Given the description of an element on the screen output the (x, y) to click on. 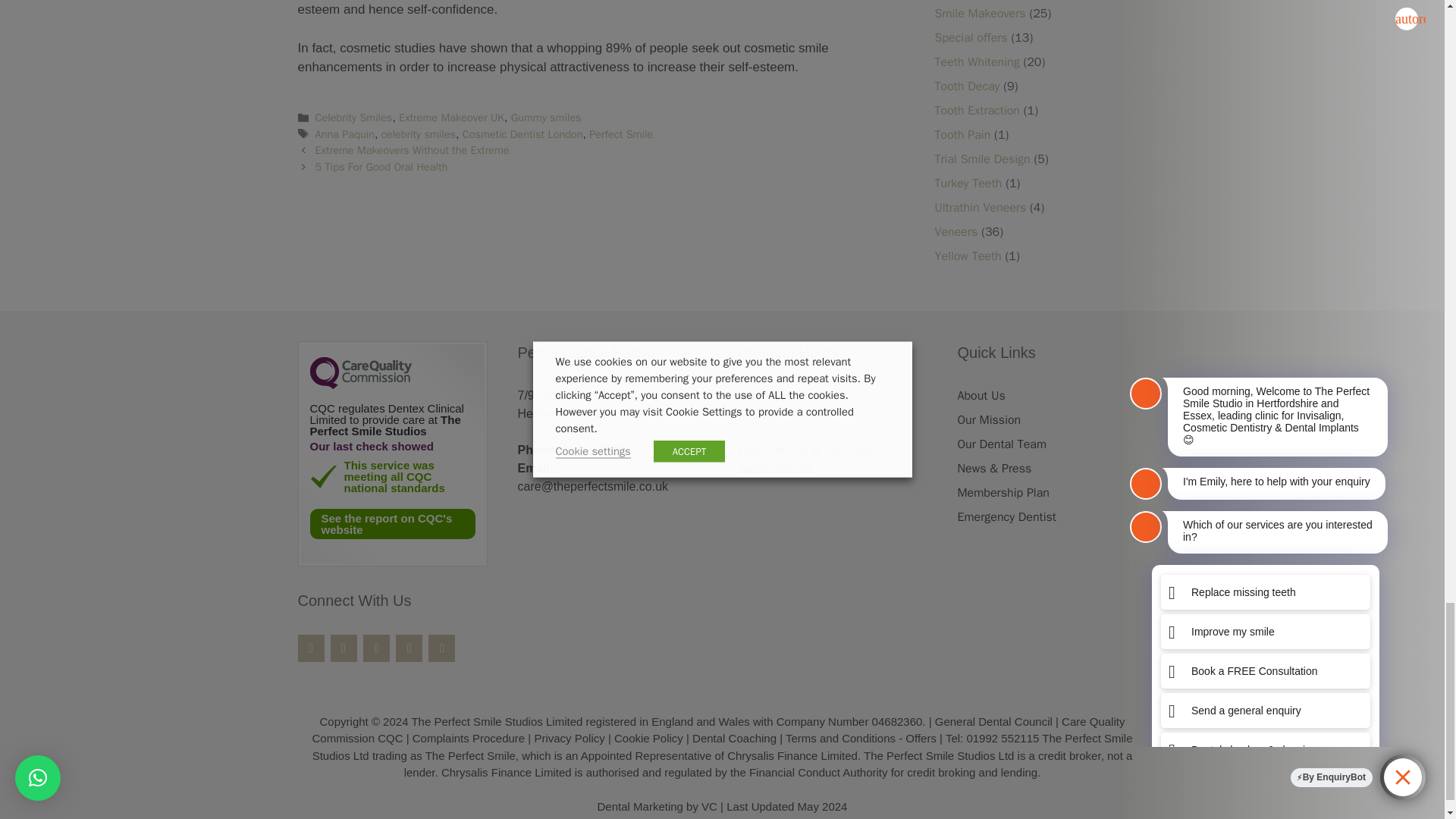
CQC Logo (359, 385)
This service was meeting all CQC national standards (322, 475)
Facebook (310, 646)
See report on CQC's website (391, 522)
Twitter (343, 646)
YouTube (409, 646)
LinkedIn (441, 646)
Instagram (376, 646)
